Given the description of an element on the screen output the (x, y) to click on. 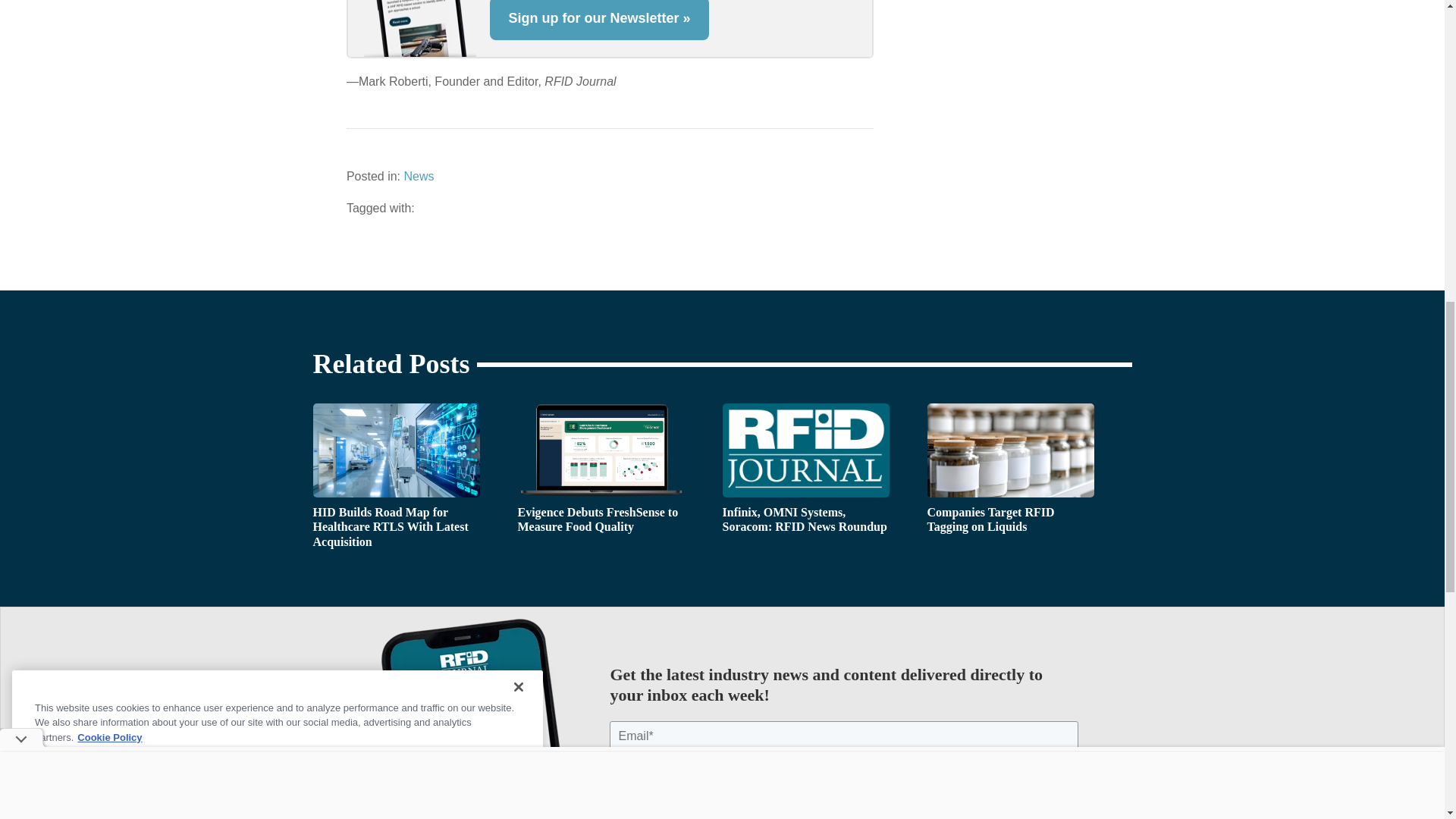
Embedded CTA (610, 29)
